Given the description of an element on the screen output the (x, y) to click on. 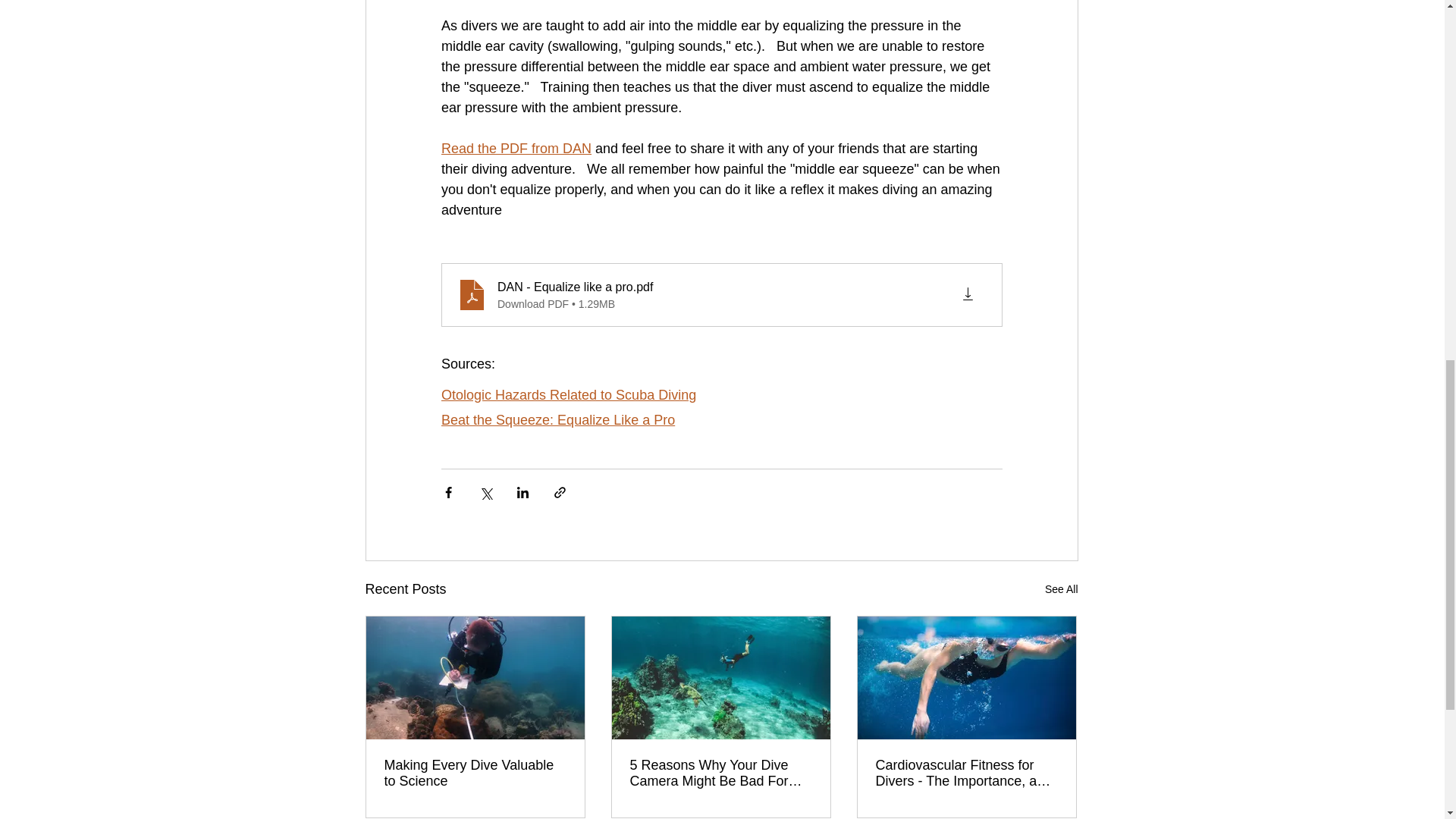
Making Every Dive Valuable to Science (475, 773)
5 Reasons Why Your Dive Camera Might Be Bad For The Reef (719, 773)
Beat the Squeeze: Equalize Like a Pro (558, 419)
Read the PDF from DAN (516, 148)
See All (1061, 589)
Otologic Hazards Related to Scuba Diving (568, 394)
